Given the description of an element on the screen output the (x, y) to click on. 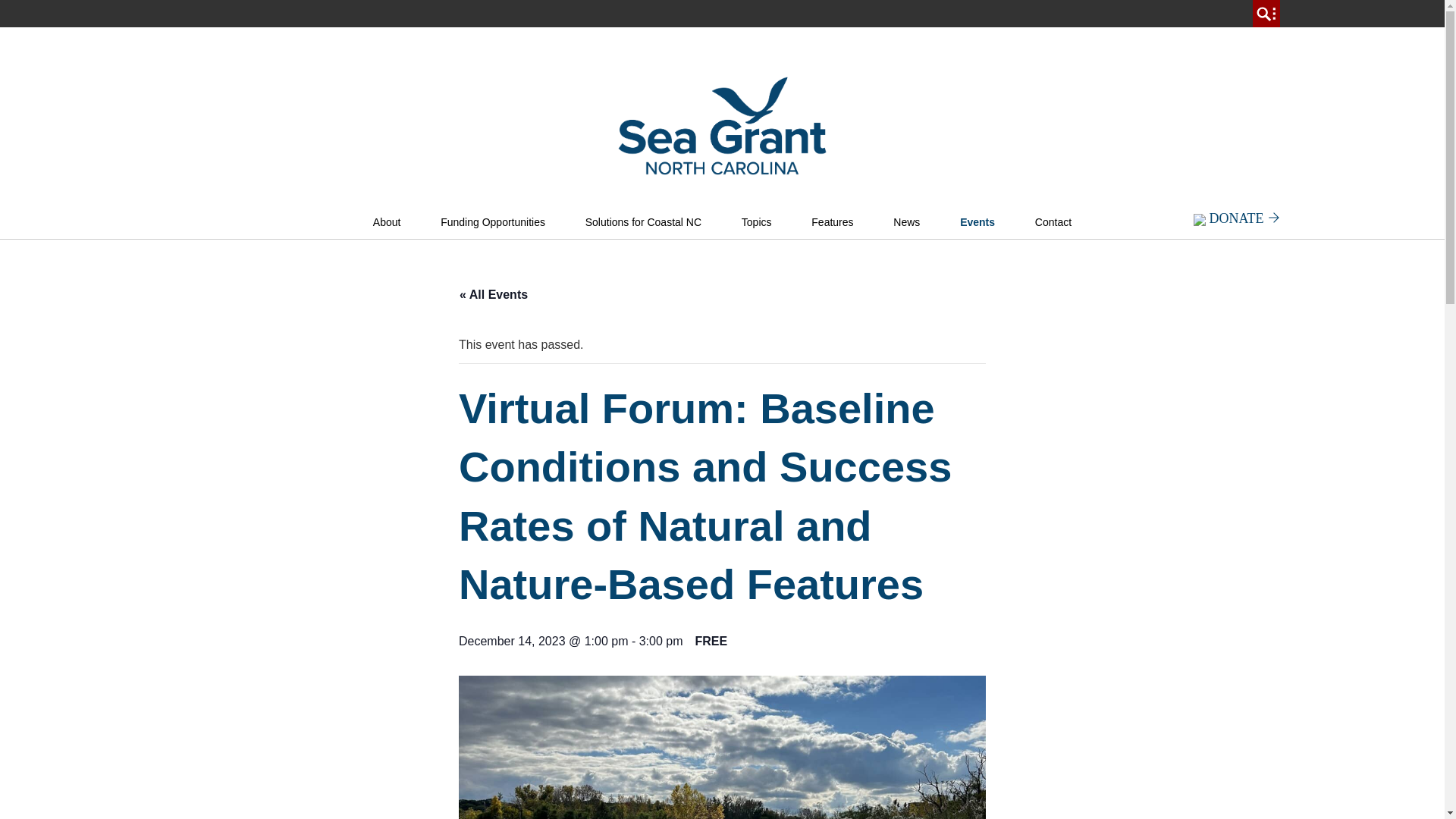
Topics (756, 222)
About (387, 222)
Solutions for Coastal NC (643, 222)
Funding Opportunities (492, 222)
